Given the description of an element on the screen output the (x, y) to click on. 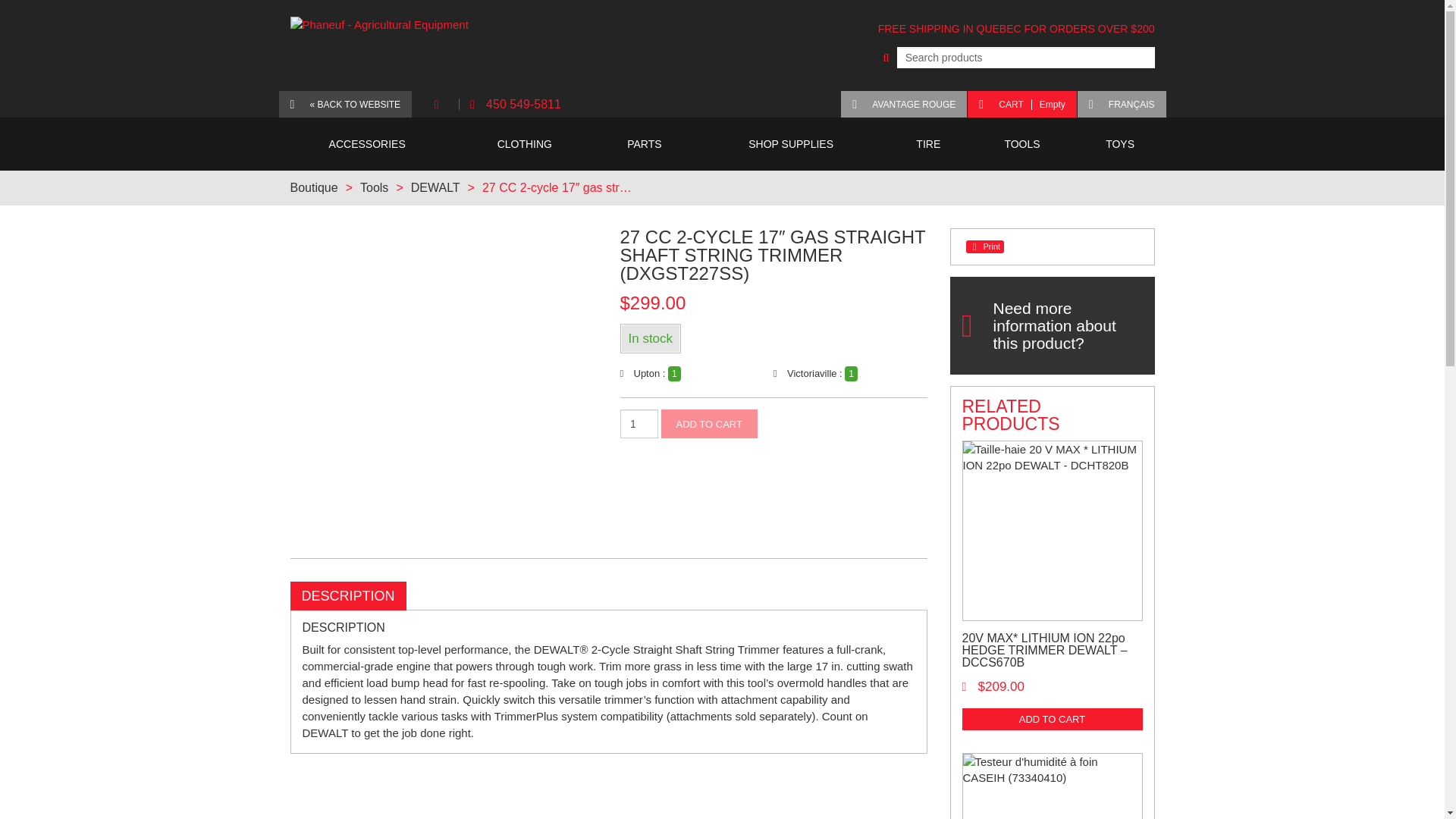
CLOTHING (524, 143)
AVANTAGE ROUGE (903, 103)
View your shopping cart (1021, 103)
Tools (373, 187)
PARTS (644, 143)
CARTEmpty (515, 103)
DEWALT (1021, 103)
Qty (435, 187)
Boutique (639, 423)
